Given the description of an element on the screen output the (x, y) to click on. 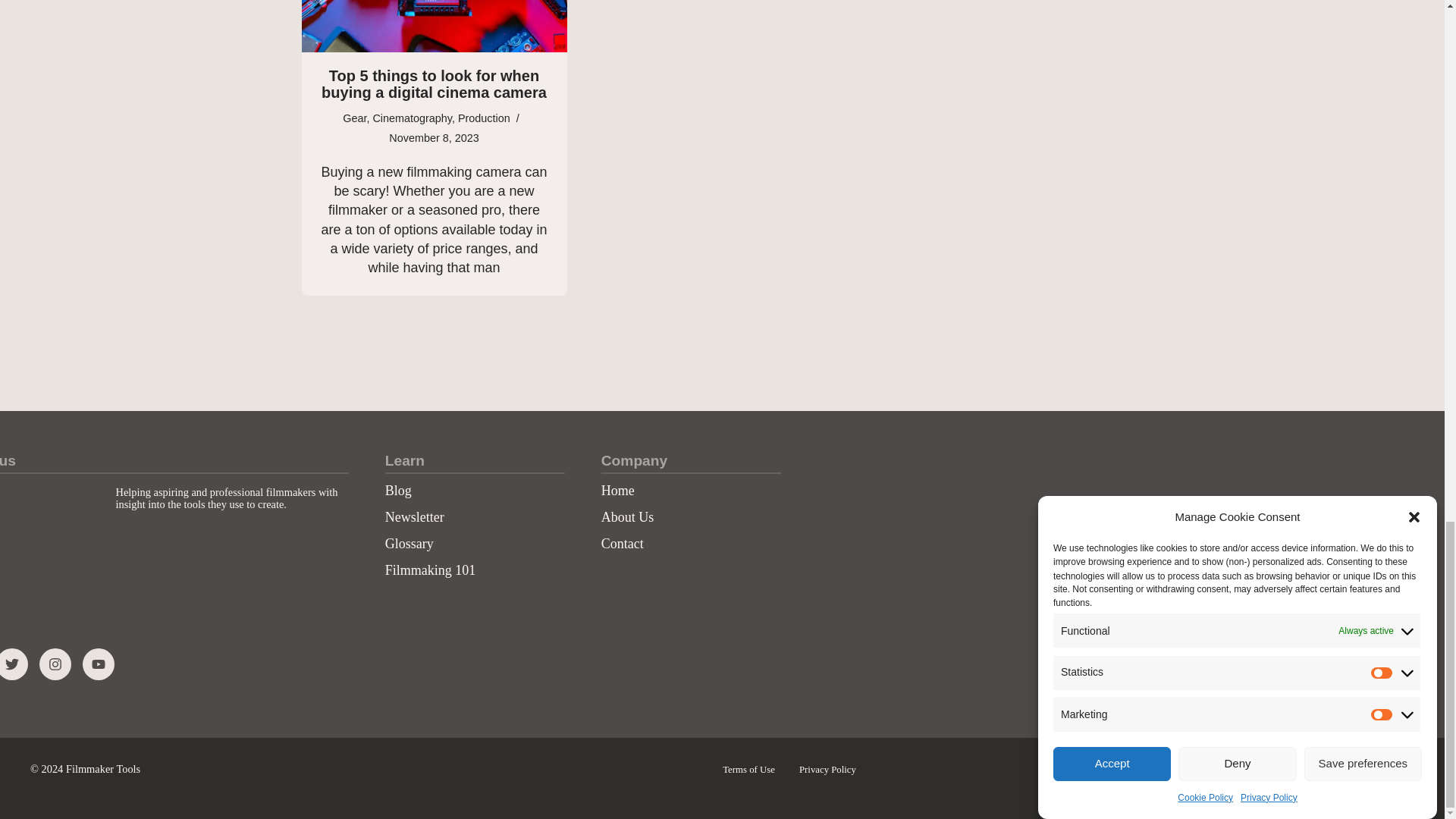
Top 5 things to look for when buying a digital cinema camera (434, 25)
